Given the description of an element on the screen output the (x, y) to click on. 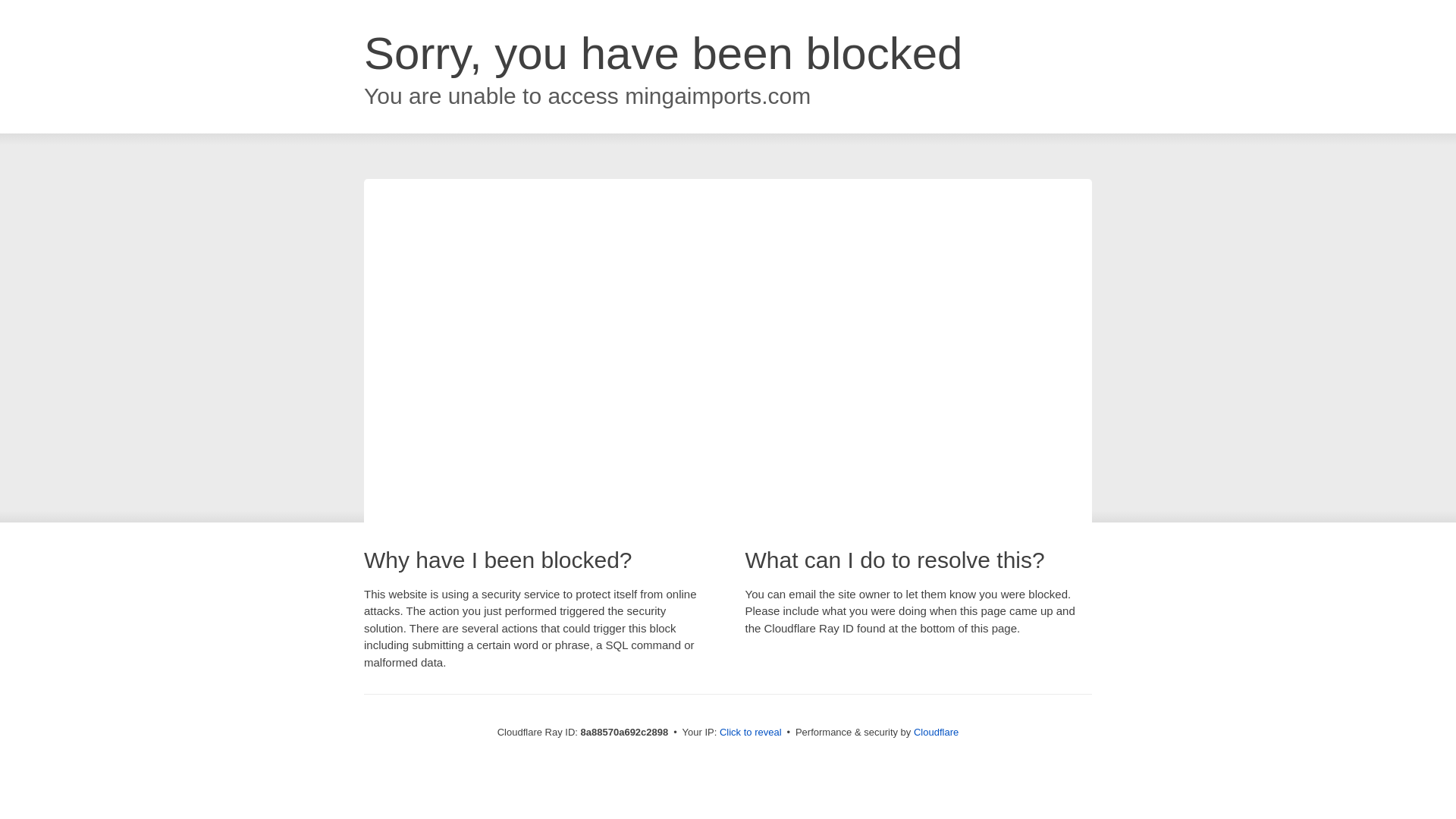
Click to reveal (750, 732)
Cloudflare (936, 731)
